Given the description of an element on the screen output the (x, y) to click on. 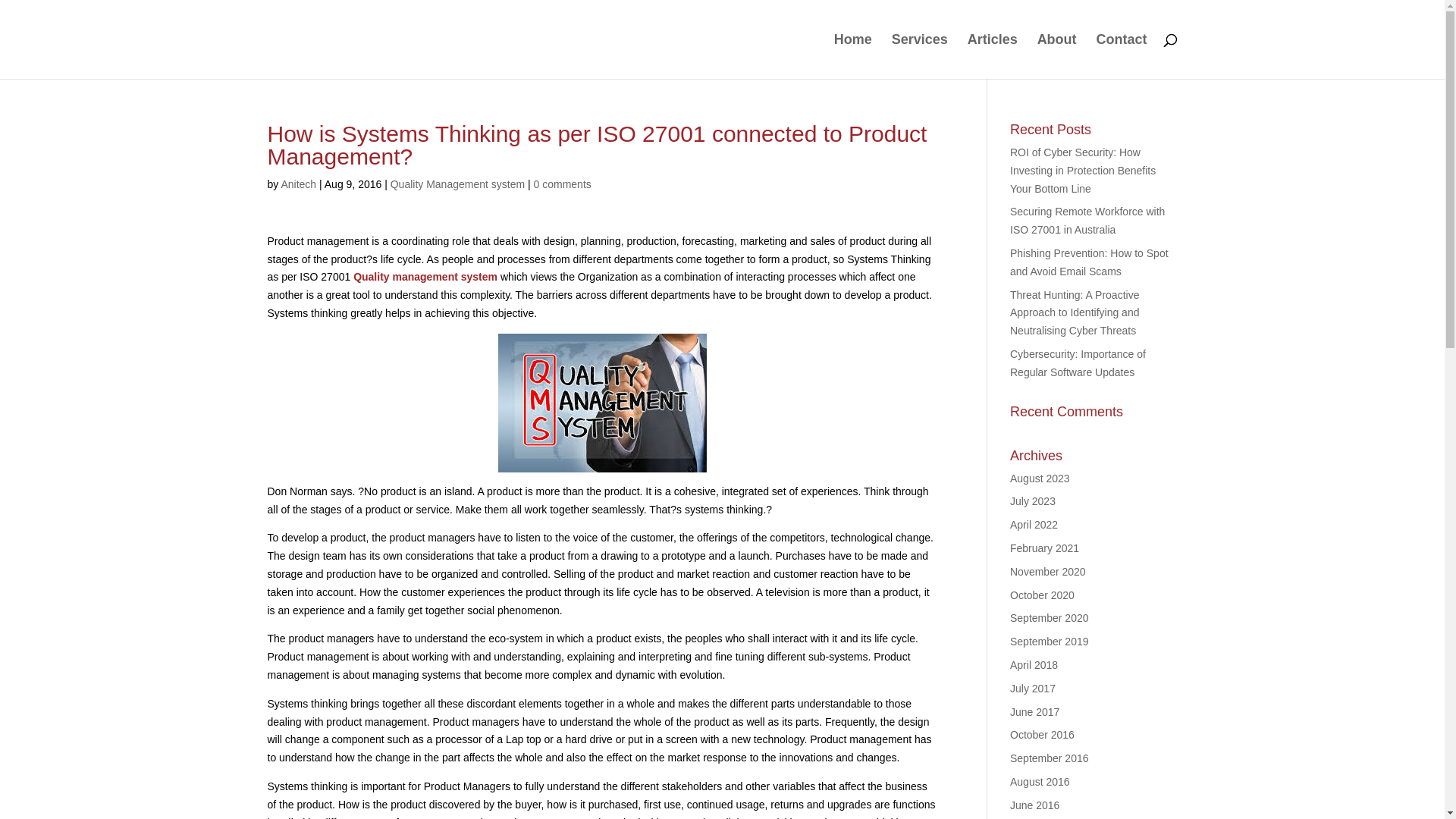
July 2023 Element type: text (1032, 501)
September 2016 Element type: text (1049, 758)
February 2021 Element type: text (1044, 548)
Securing Remote Workforce with ISO 27001 in Australia Element type: text (1087, 220)
October 2016 Element type: text (1042, 734)
Quality Management system Element type: text (457, 184)
June 2017 Element type: text (1034, 712)
October 2020 Element type: text (1042, 595)
Quality Management system Element type: hover (601, 402)
September 2020 Element type: text (1049, 617)
April 2018 Element type: text (1033, 664)
April 2022 Element type: text (1033, 524)
July 2017 Element type: text (1032, 688)
Quality management system Element type: text (426, 276)
About Element type: text (1056, 56)
Anitech Element type: text (298, 184)
Contact Element type: text (1121, 56)
Home Element type: text (853, 56)
Cybersecurity: Importance of Regular Software Updates Element type: text (1077, 363)
Services Element type: text (919, 56)
0 comments Element type: text (562, 184)
August 2023 Element type: text (1040, 478)
September 2019 Element type: text (1049, 641)
August 2016 Element type: text (1040, 781)
June 2016 Element type: text (1034, 805)
November 2020 Element type: text (1047, 571)
Articles Element type: text (992, 56)
Phishing Prevention: How to Spot and Avoid Email Scams Element type: text (1089, 262)
